Given the description of an element on the screen output the (x, y) to click on. 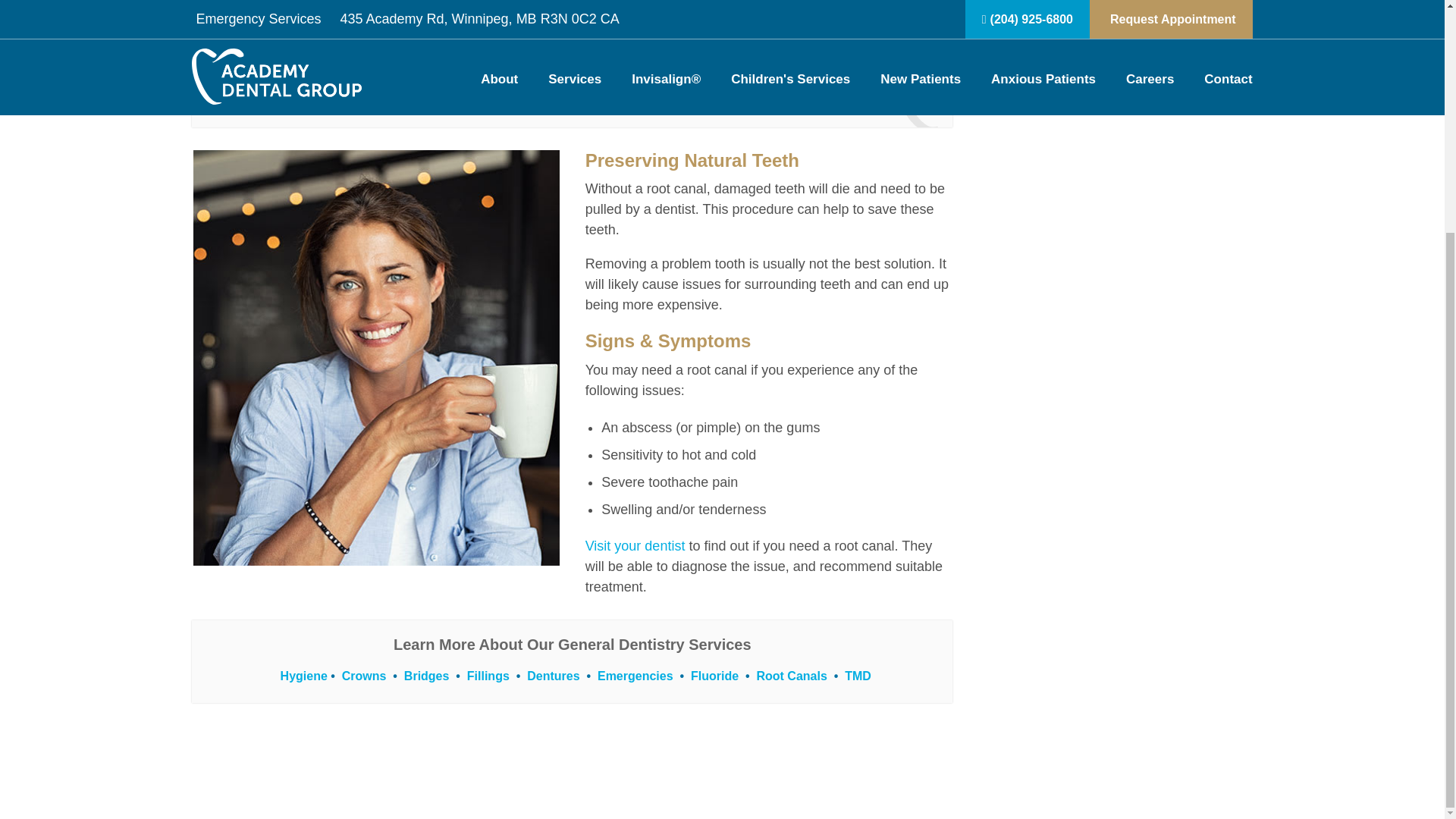
Dentures (553, 675)
Request Appointment (571, 92)
Hygiene (304, 675)
Emergencies (634, 675)
Visit your dentist (635, 545)
Fillings (488, 675)
Bridges (426, 675)
Crowns (364, 675)
